Given the description of an element on the screen output the (x, y) to click on. 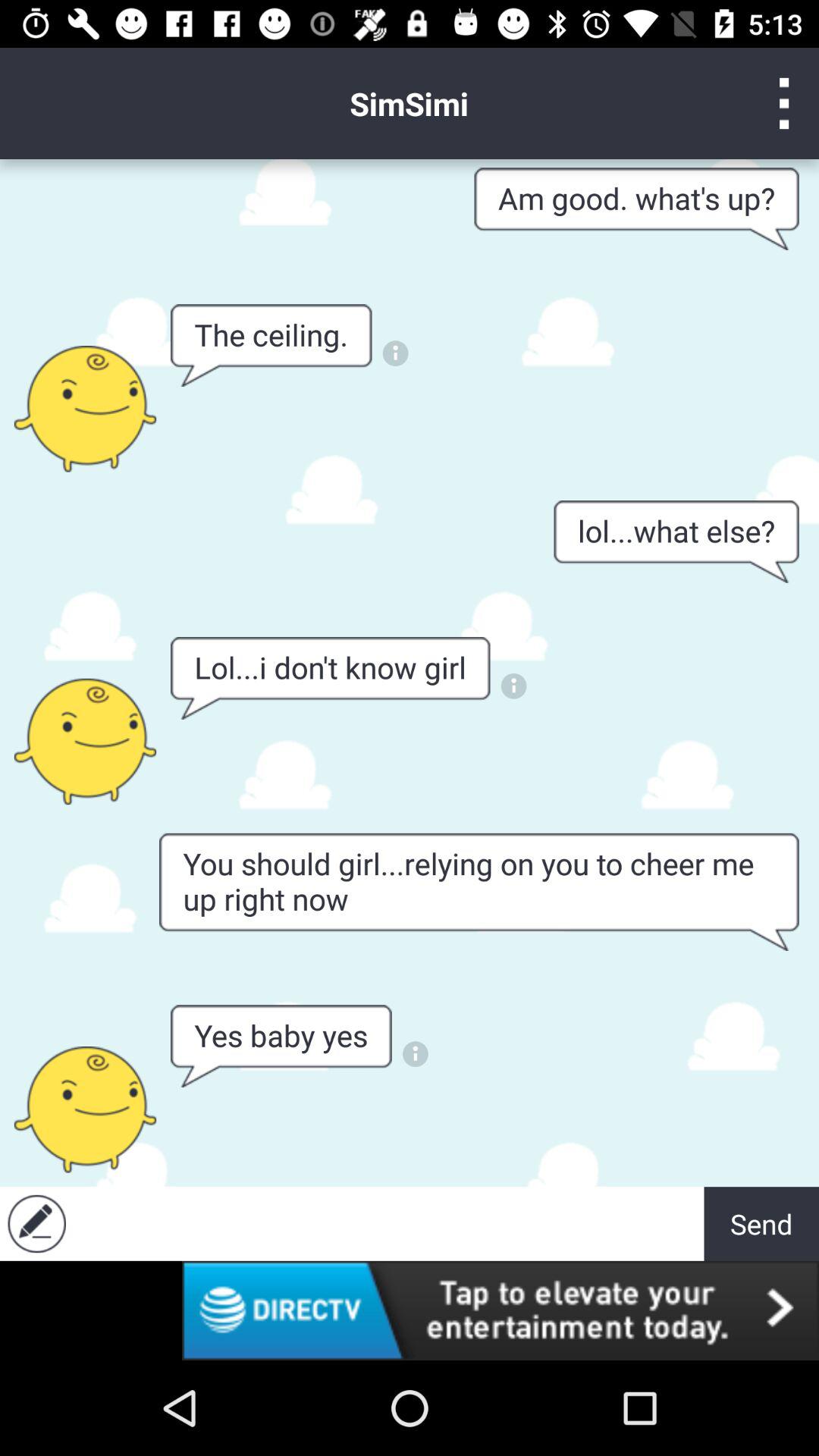
click to the edit (36, 1223)
